Given the description of an element on the screen output the (x, y) to click on. 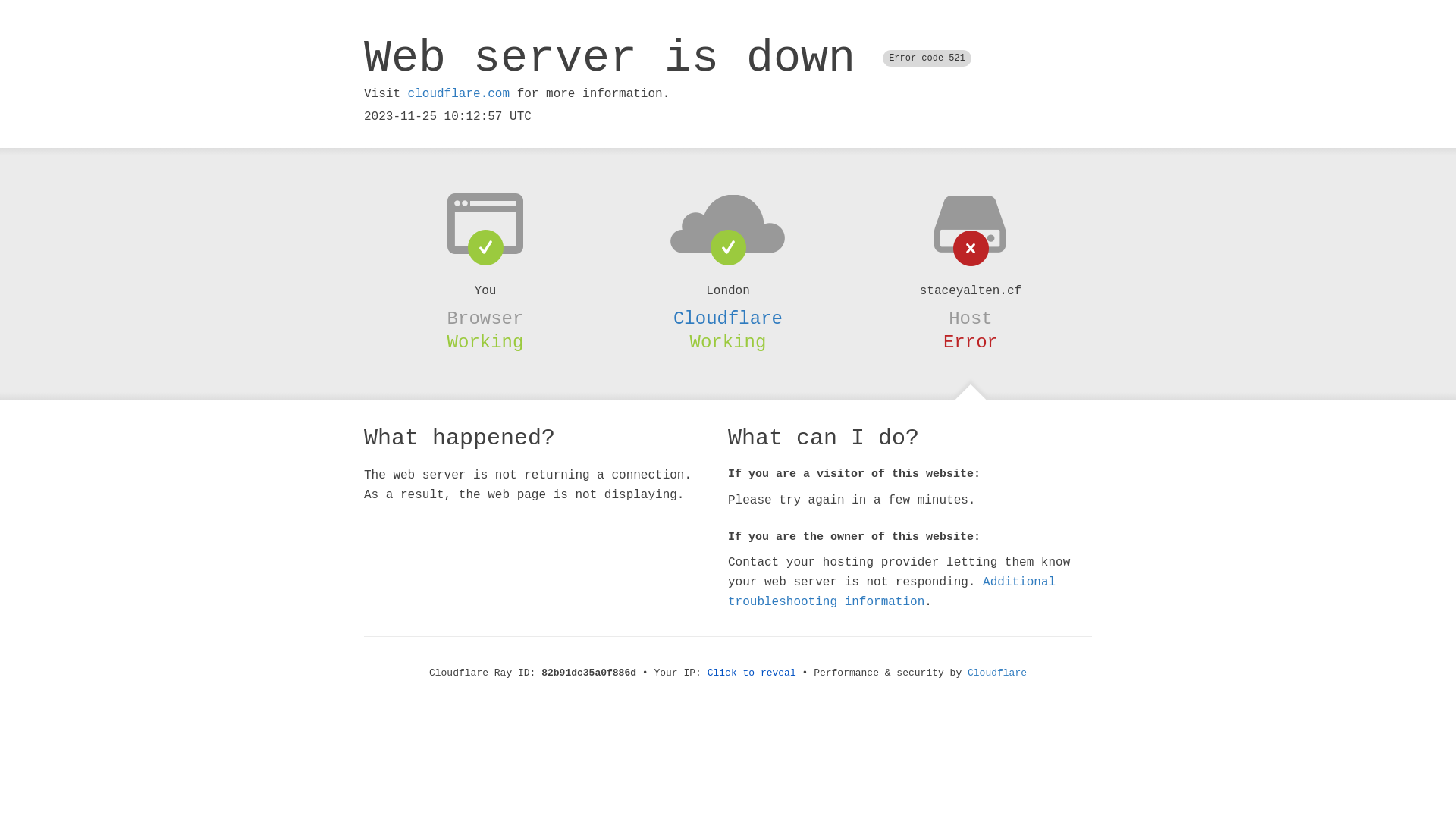
Cloudflare Element type: text (996, 672)
Cloudflare Element type: text (727, 318)
Click to reveal Element type: text (751, 672)
cloudflare.com Element type: text (458, 93)
Additional troubleshooting information Element type: text (891, 591)
